Given the description of an element on the screen output the (x, y) to click on. 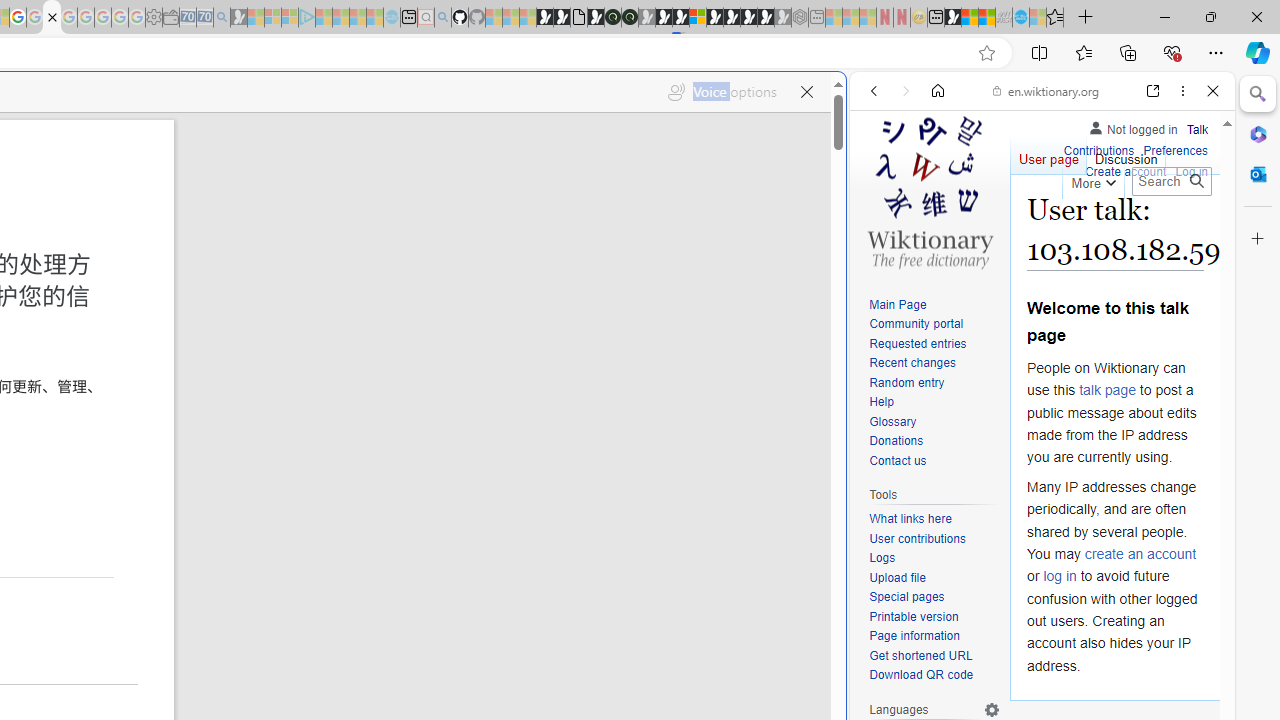
google_privacy_policy_zh-CN.pdf (51, 17)
Page information (934, 637)
Random entry (934, 382)
What links here (934, 519)
Home | Sky Blue Bikes - Sky Blue Bikes (687, 426)
Download QR code (934, 676)
Close split screen (844, 102)
Logs (934, 558)
Community portal (916, 323)
Home | Sky Blue Bikes - Sky Blue Bikes - Sleeping (392, 17)
